Given the description of an element on the screen output the (x, y) to click on. 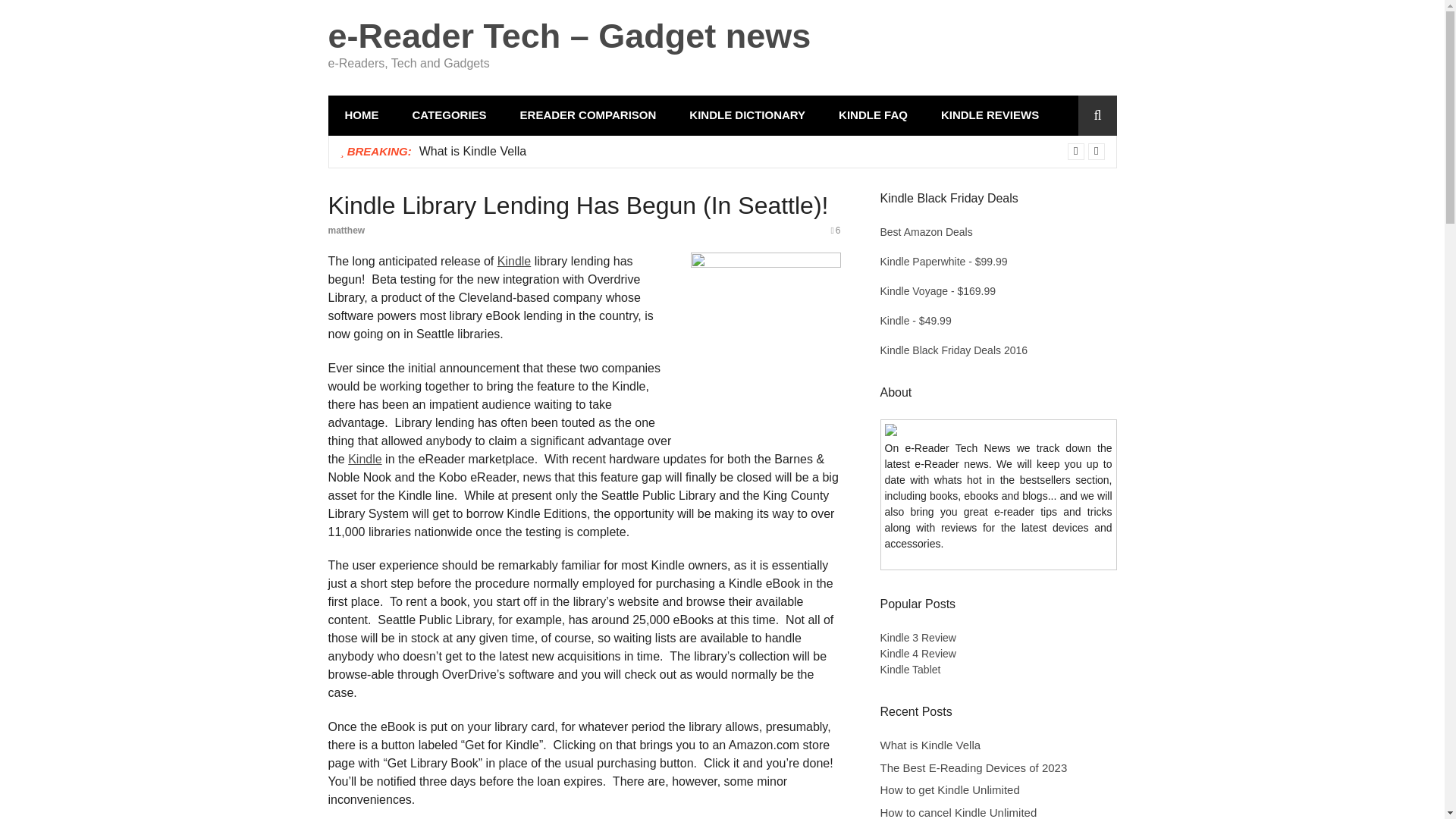
EREADER COMPARISON (587, 115)
HOME (360, 115)
matthew (346, 230)
What is Kindle Vella (472, 150)
CATEGORIES (449, 115)
Kindle (514, 260)
Kindle (364, 459)
What is Kindle Vella (472, 150)
KINDLE DICTIONARY (747, 115)
KINDLE REVIEWS (989, 115)
KINDLE FAQ (873, 115)
Kindle 3 Review (917, 637)
Kindle Tablet (909, 669)
